Given the description of an element on the screen output the (x, y) to click on. 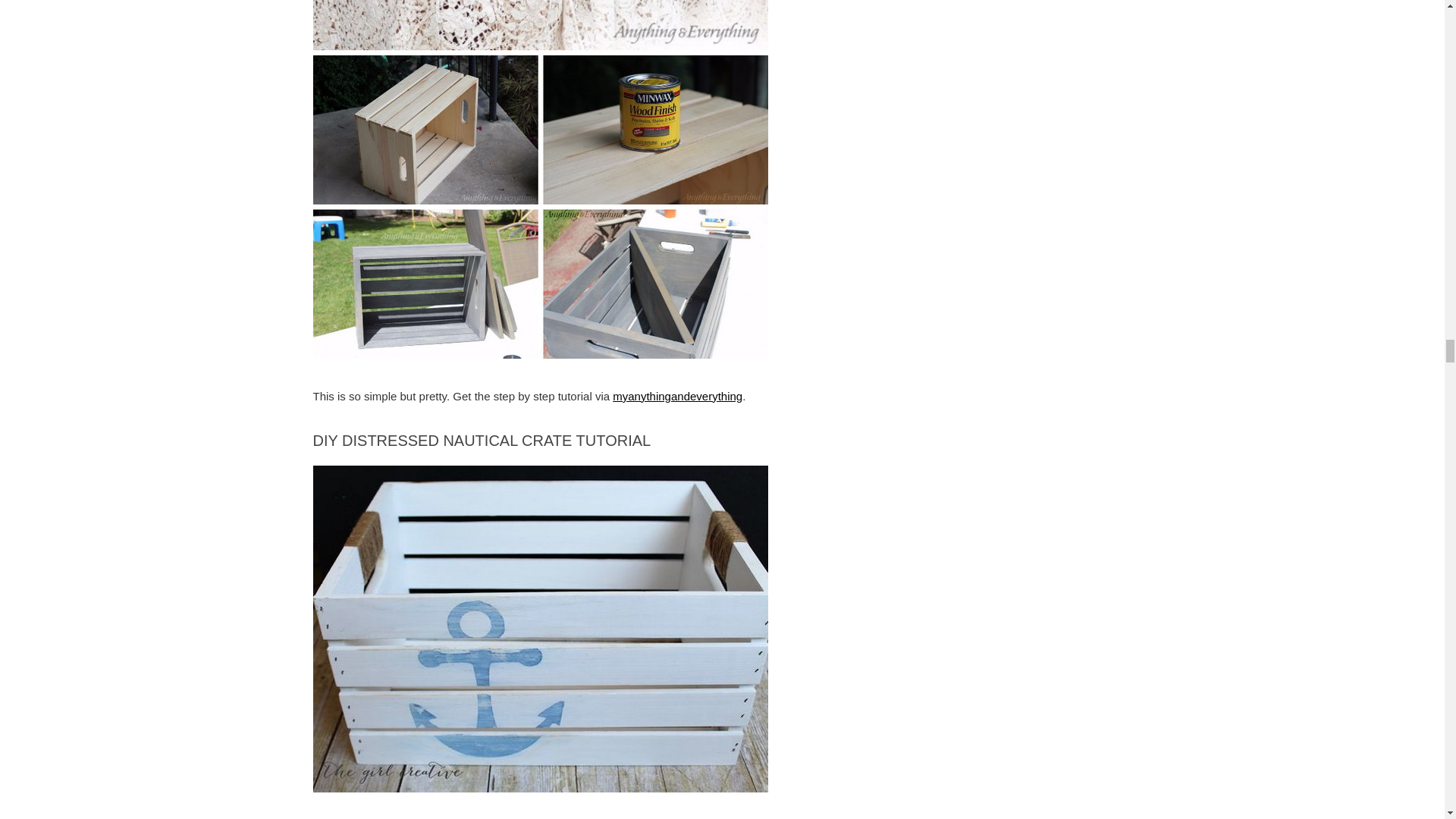
myanythingandeverything (677, 395)
